Given the description of an element on the screen output the (x, y) to click on. 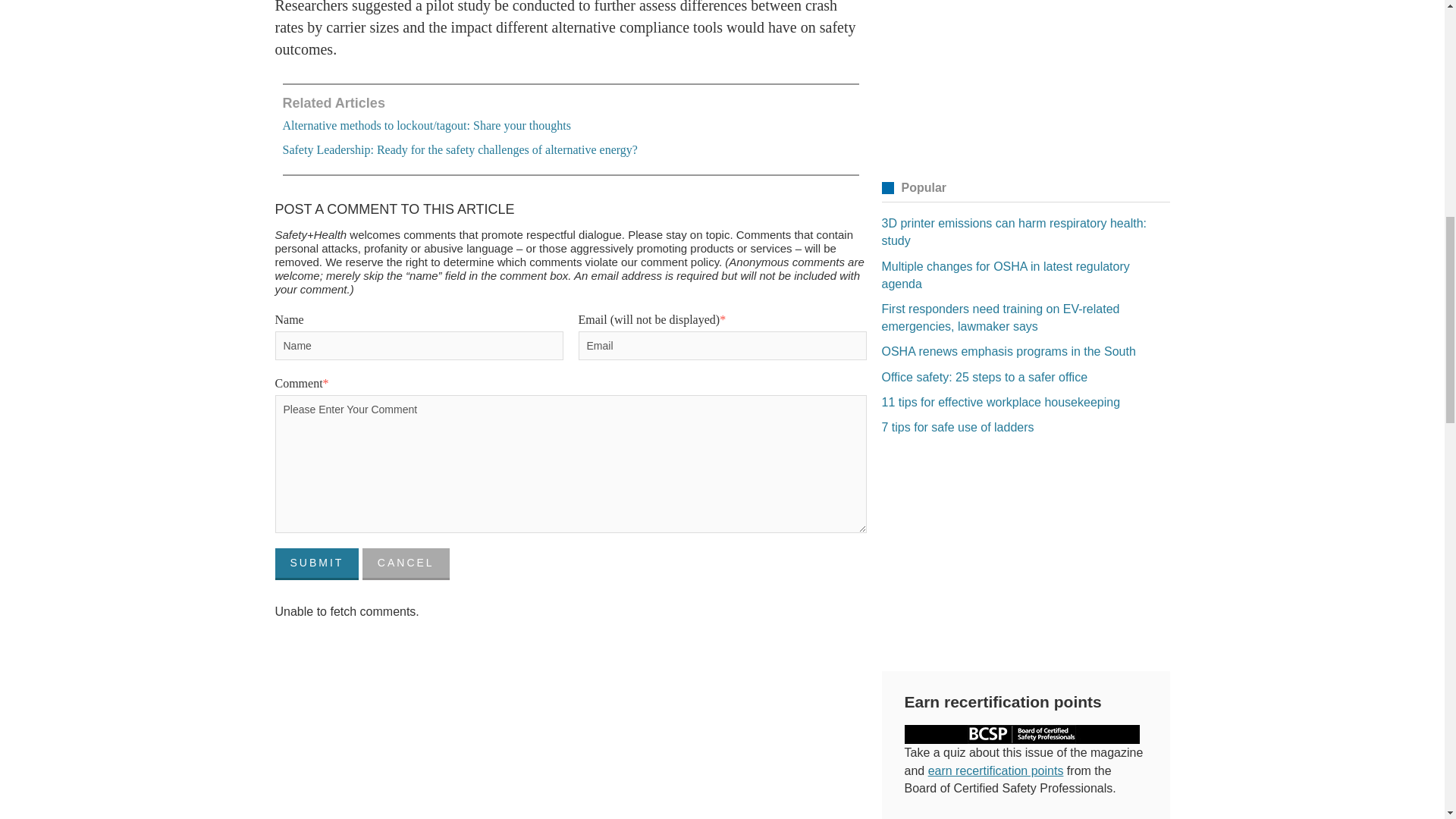
Submit (316, 563)
Name (418, 345)
Email (722, 345)
Cancel (405, 563)
